Given the description of an element on the screen output the (x, y) to click on. 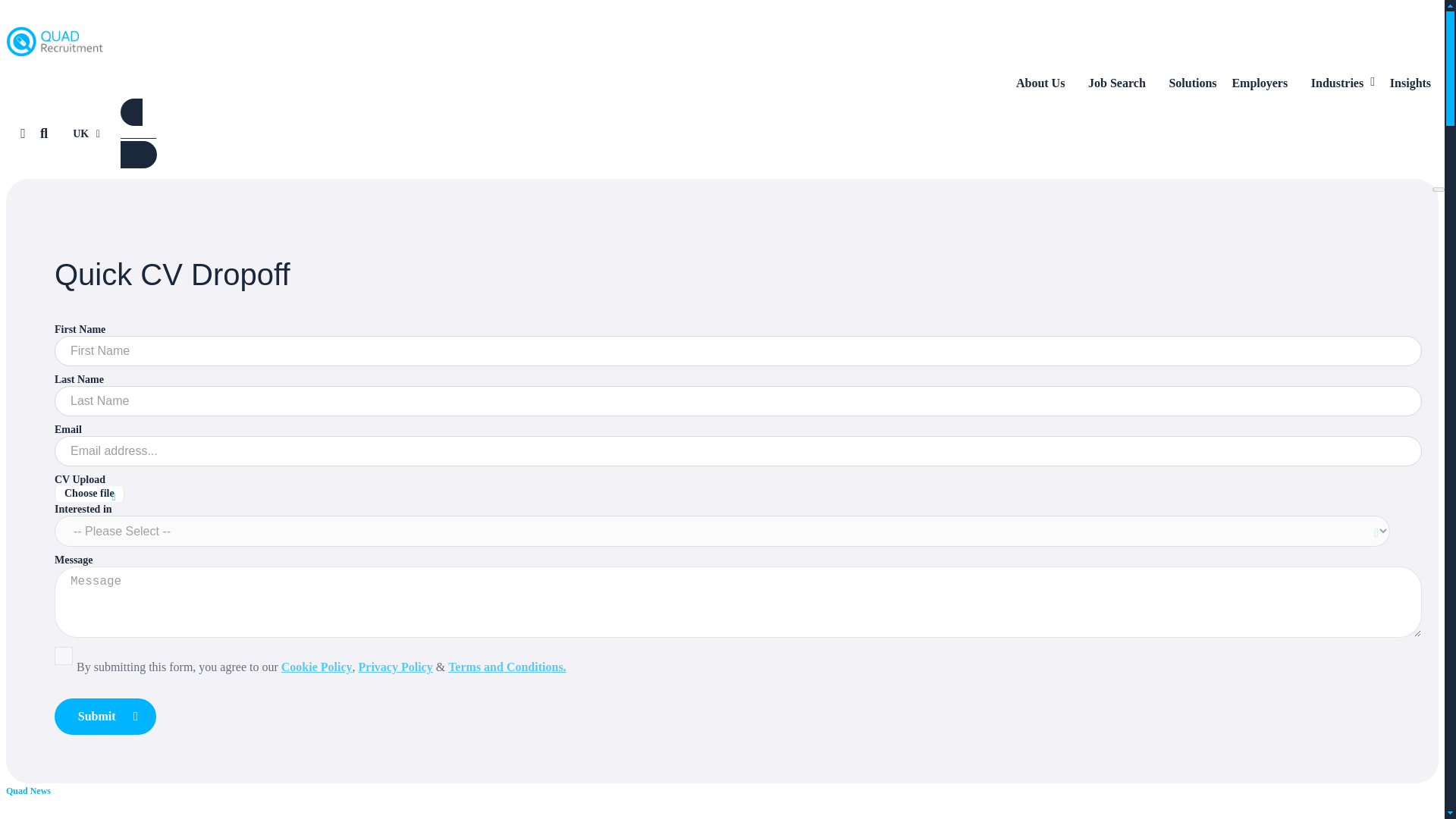
Cookie Policy (316, 666)
Solutions (1192, 83)
Job Search (1120, 83)
Privacy Policy (395, 666)
Submit (105, 715)
Employers (1263, 83)
Industries (1342, 83)
Terms and Conditions. (507, 666)
About Us (1044, 83)
Submit (105, 715)
